Given the description of an element on the screen output the (x, y) to click on. 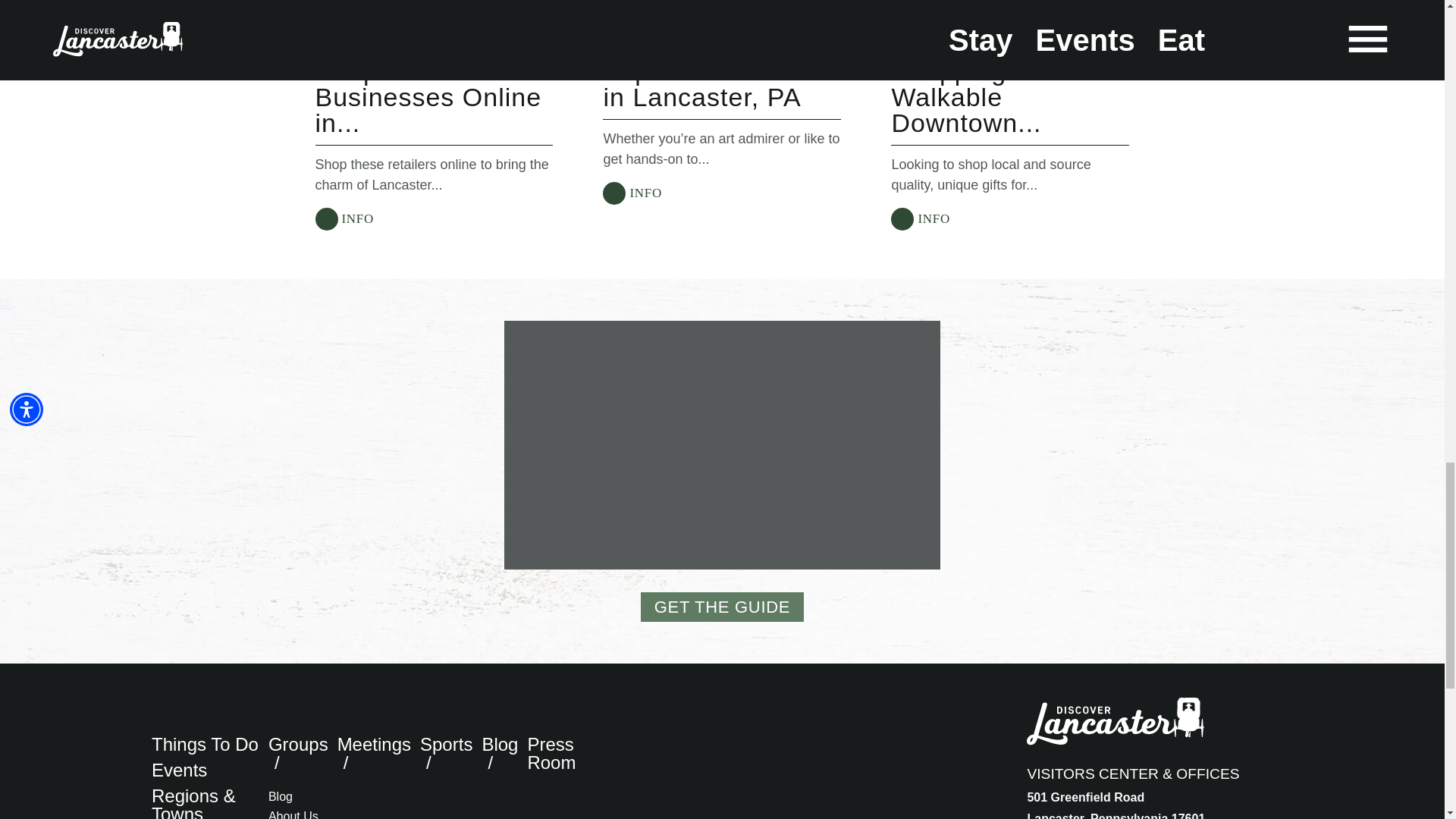
INFO (631, 193)
Shopping in Walkable Downtown... (966, 96)
INFO (345, 218)
Experience the Arts in Lancaster, PA (721, 83)
Shop Local-Owned Businesses Online in... (431, 96)
INFO (920, 218)
